Given the description of an element on the screen output the (x, y) to click on. 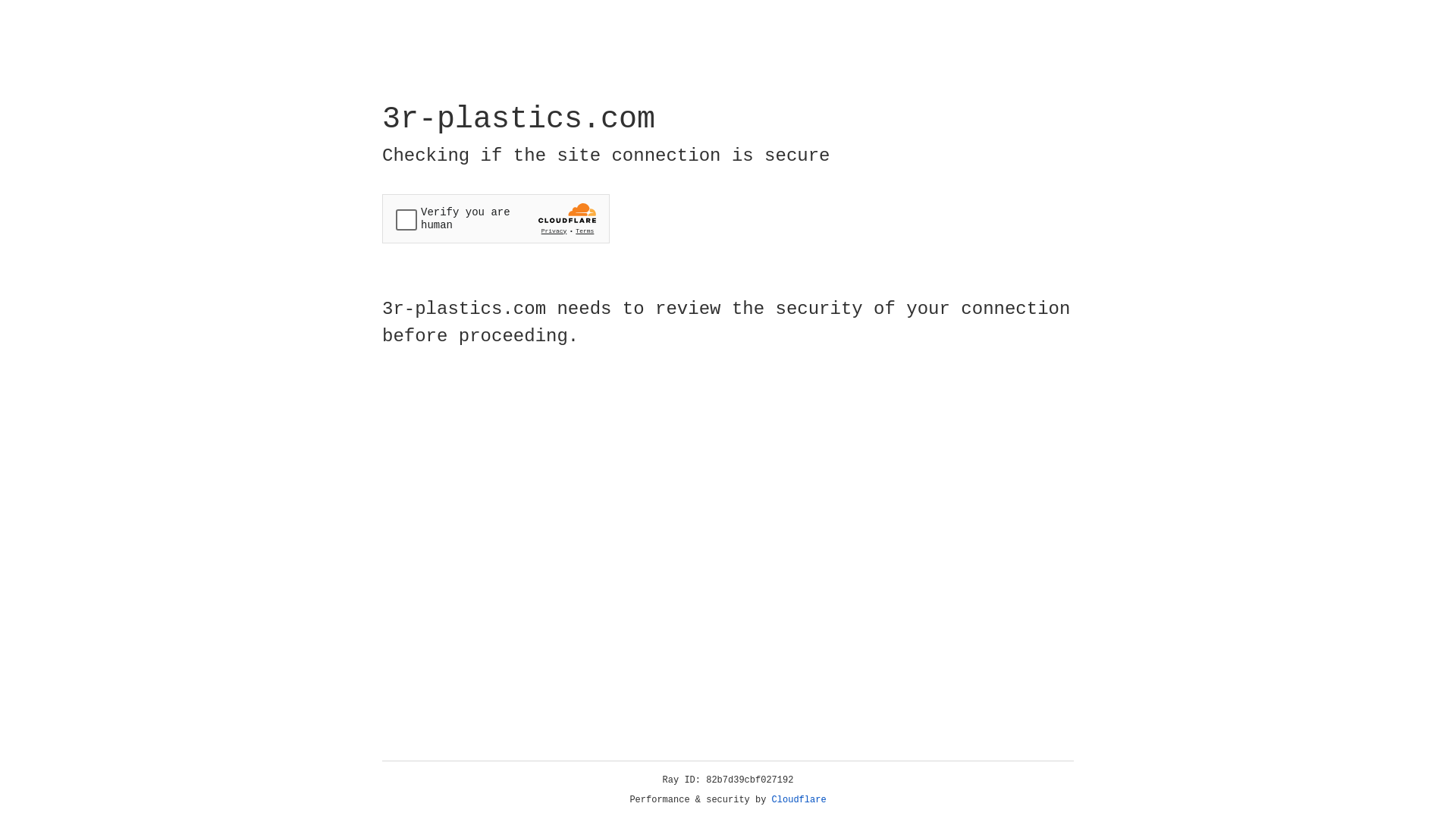
Widget containing a Cloudflare security challenge Element type: hover (495, 218)
Cloudflare Element type: text (798, 799)
